Given the description of an element on the screen output the (x, y) to click on. 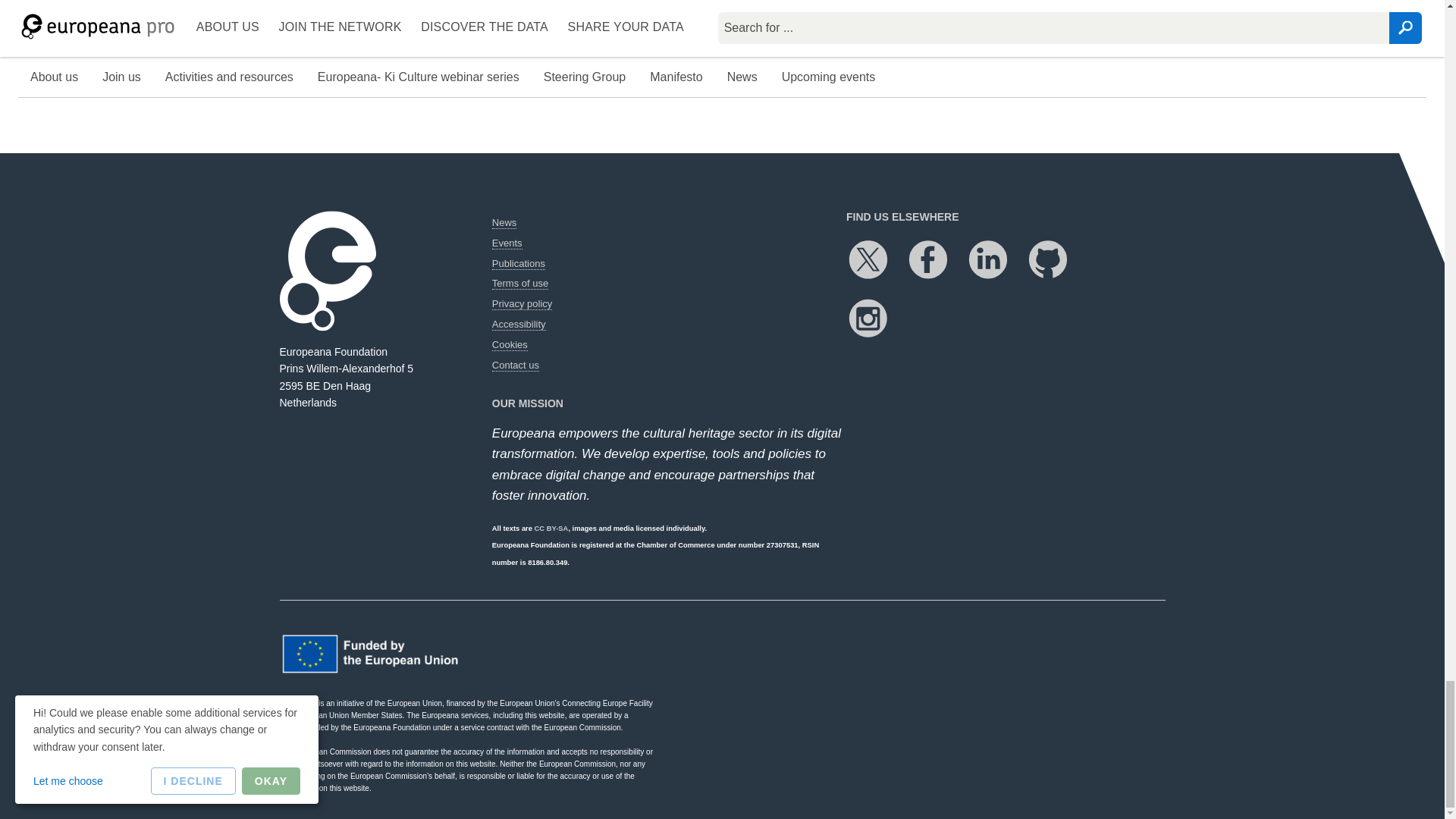
News (504, 223)
Publications (518, 263)
Events (507, 243)
